Given the description of an element on the screen output the (x, y) to click on. 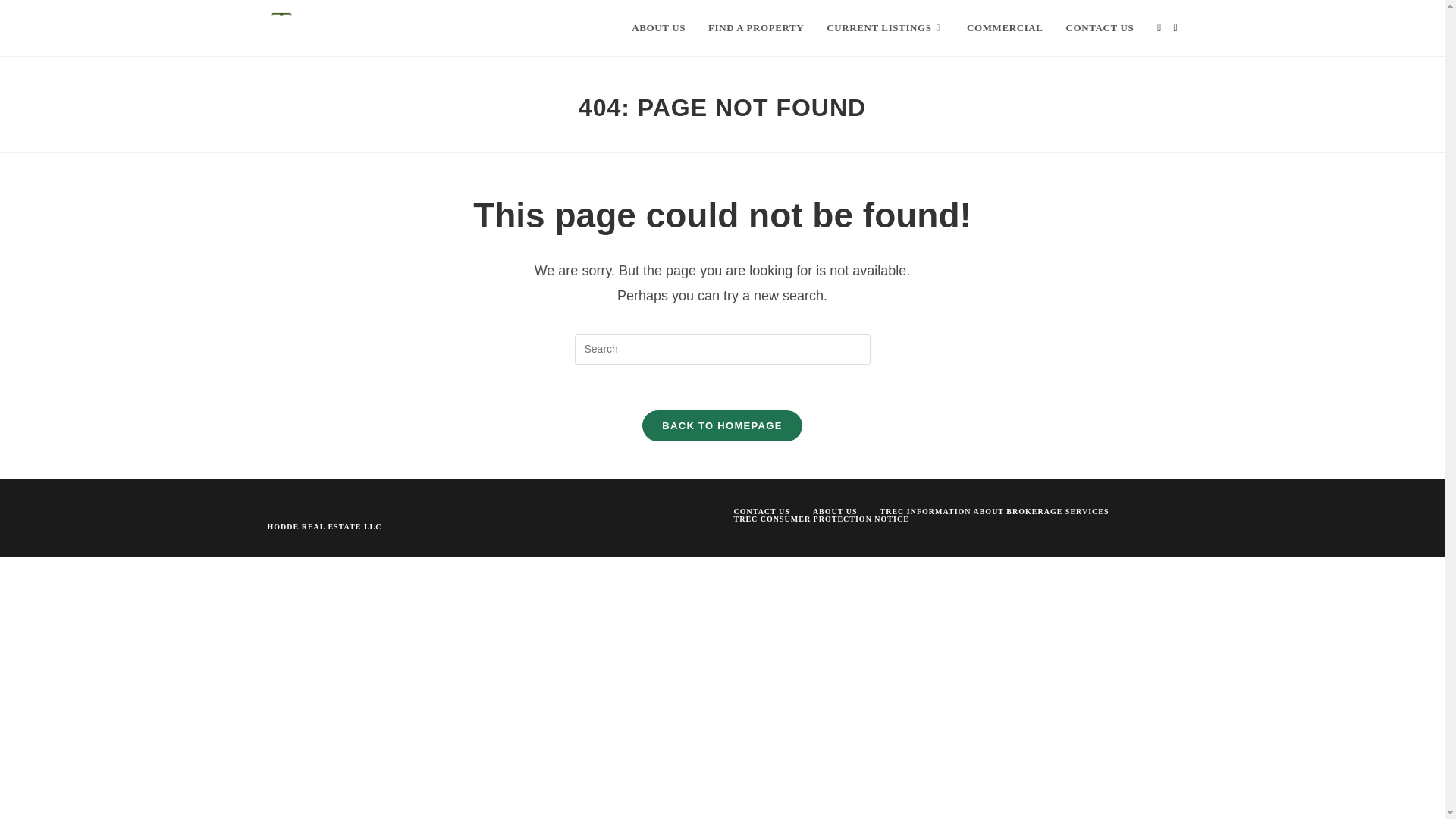
CONTACT US (1099, 28)
ABOUT US (658, 28)
BACK TO HOMEPAGE (722, 425)
TREC INFORMATION ABOUT BROKERAGE SERVICES (995, 510)
CONTACT US (761, 510)
TREC CONSUMER PROTECTION NOTICE (821, 519)
CURRENT LISTINGS (885, 28)
FIND A PROPERTY (756, 28)
COMMERCIAL (1004, 28)
ABOUT US (835, 510)
